Given the description of an element on the screen output the (x, y) to click on. 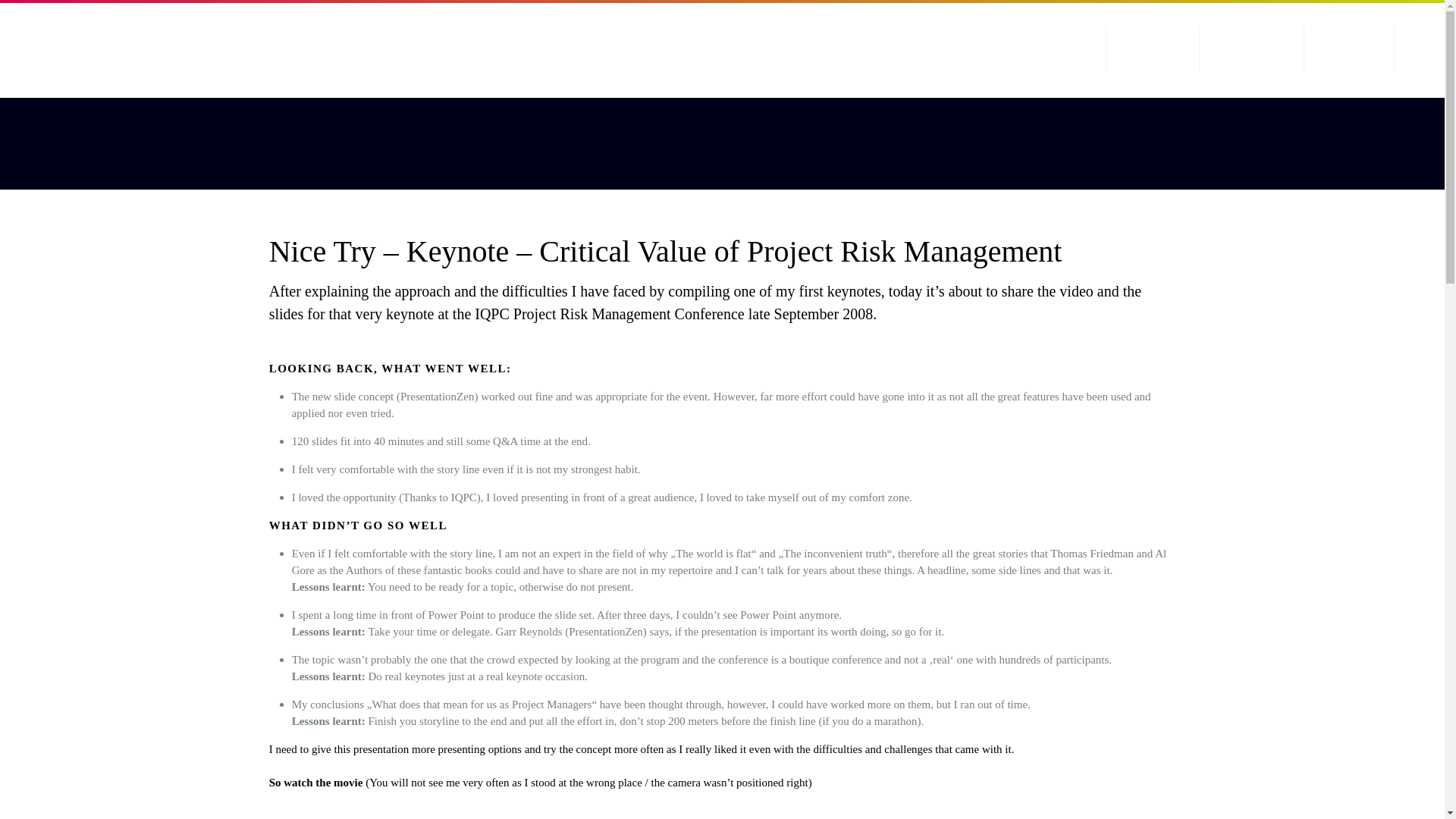
PresentationZen (605, 631)
MENTORING (1251, 48)
Garr Reynolds (529, 631)
THE GAME CHANGER (1026, 48)
PODCAST (1348, 48)
SPEAKING (1152, 48)
